Given the description of an element on the screen output the (x, y) to click on. 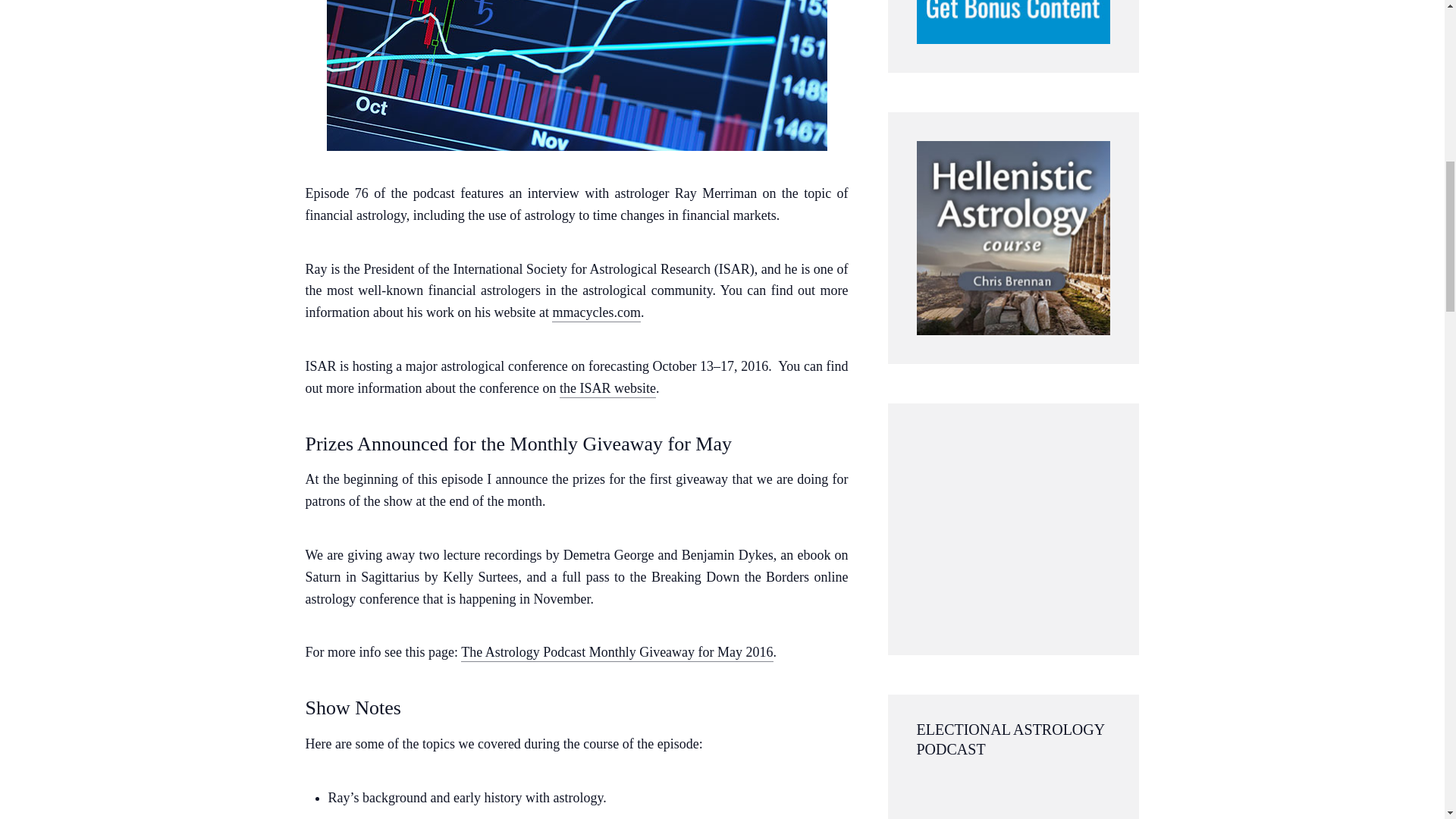
the ISAR website (607, 388)
The Astrology Podcast Monthly Giveaway for May 2016 (617, 652)
The Electional Astrology Podcast (1012, 798)
Financial Astrology with Ray Merriman (576, 75)
mmacycles.com (595, 312)
